Given the description of an element on the screen output the (x, y) to click on. 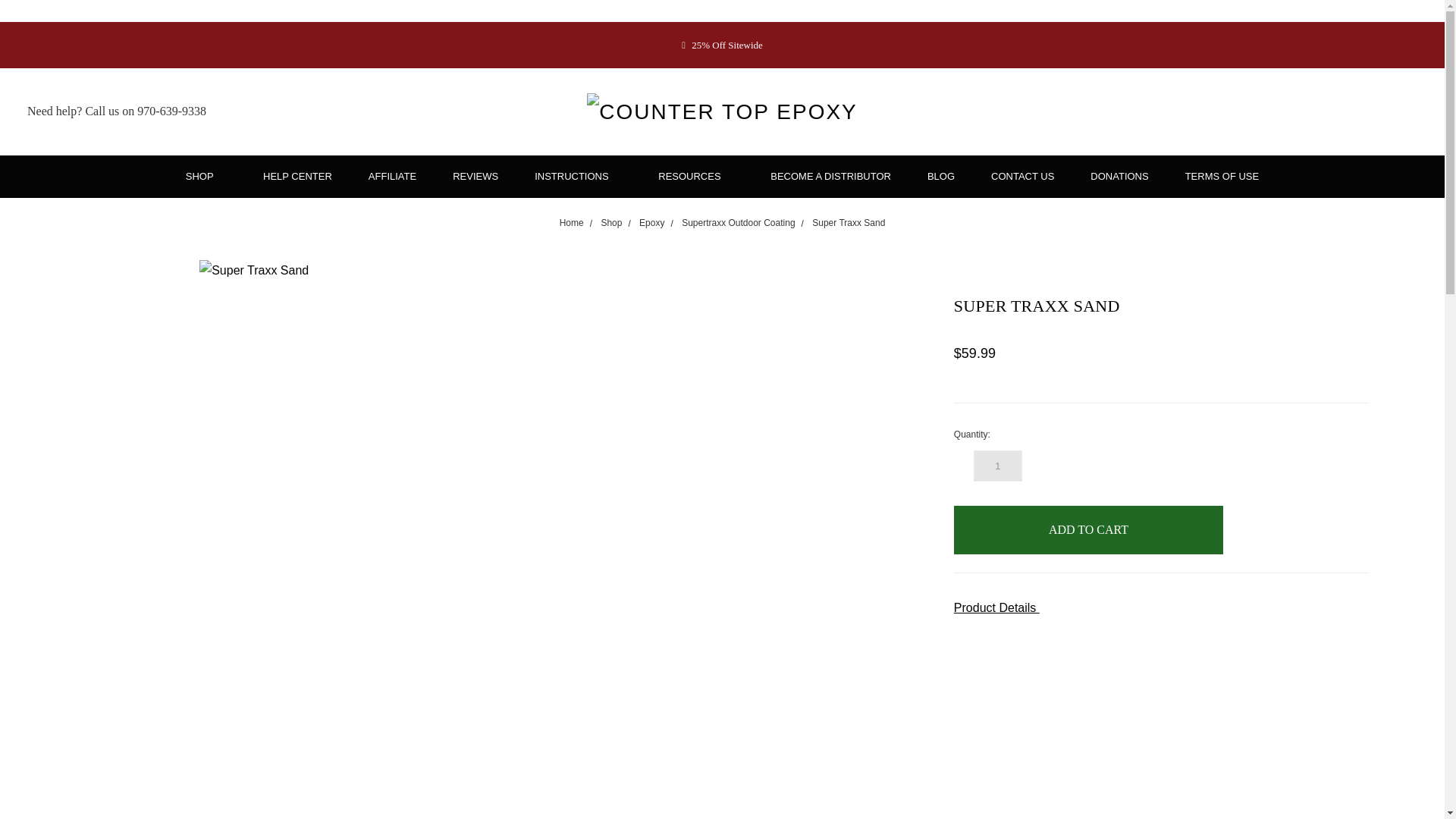
Need help? Call us on 970-639-9338 (116, 111)
HELP CENTER (297, 176)
Counter Top Epoxy (721, 112)
1 (998, 465)
Add to Cart (1088, 530)
Product Details (1160, 608)
REVIEWS (474, 176)
INSTRUCTIONS (578, 176)
SHOP (205, 176)
